Given the description of an element on the screen output the (x, y) to click on. 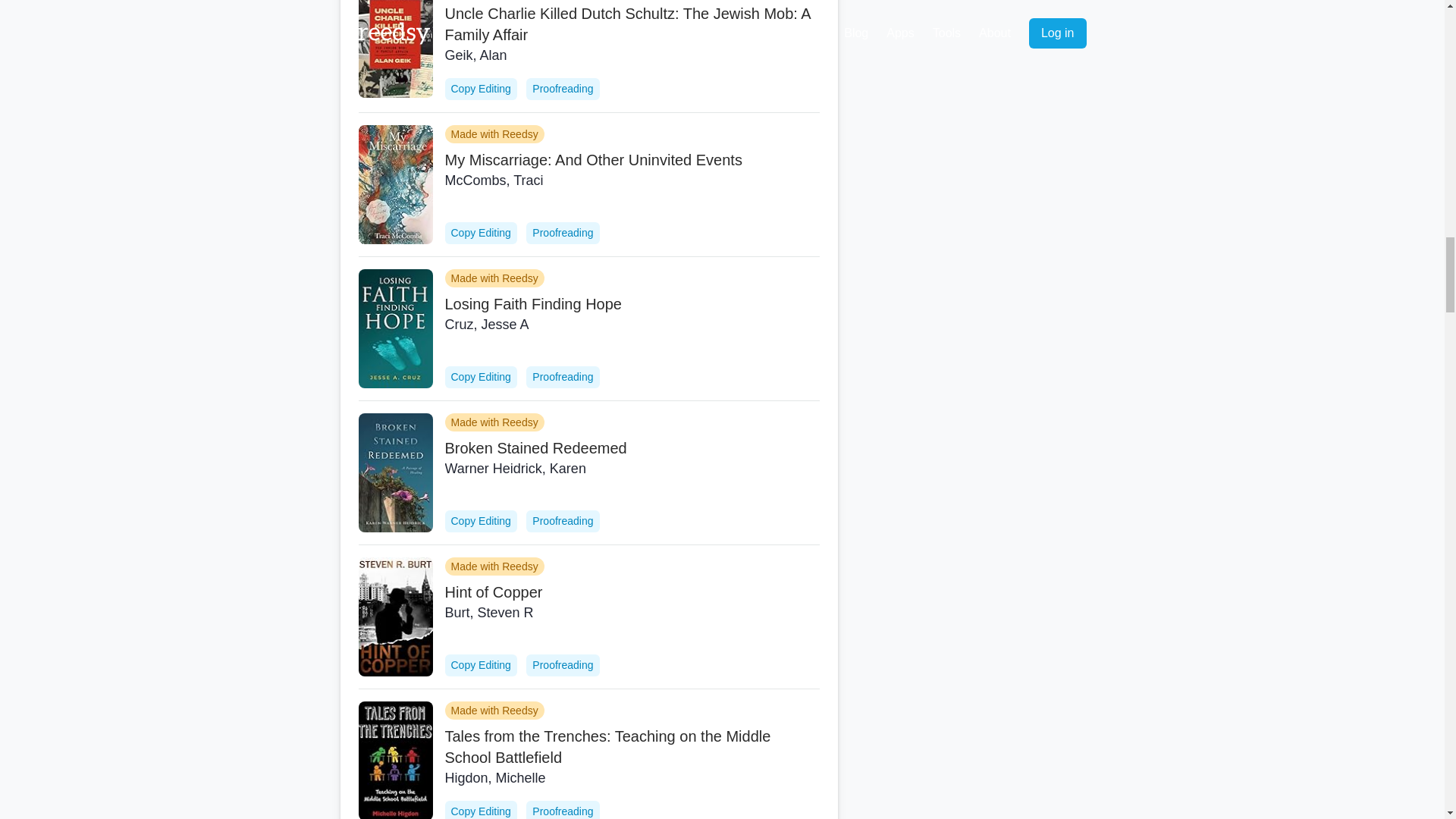
My Miscarriage: And Other Uninvited Events (631, 159)
Broken Stained Redeemed (631, 447)
Losing Faith Finding Hope (631, 303)
